Given the description of an element on the screen output the (x, y) to click on. 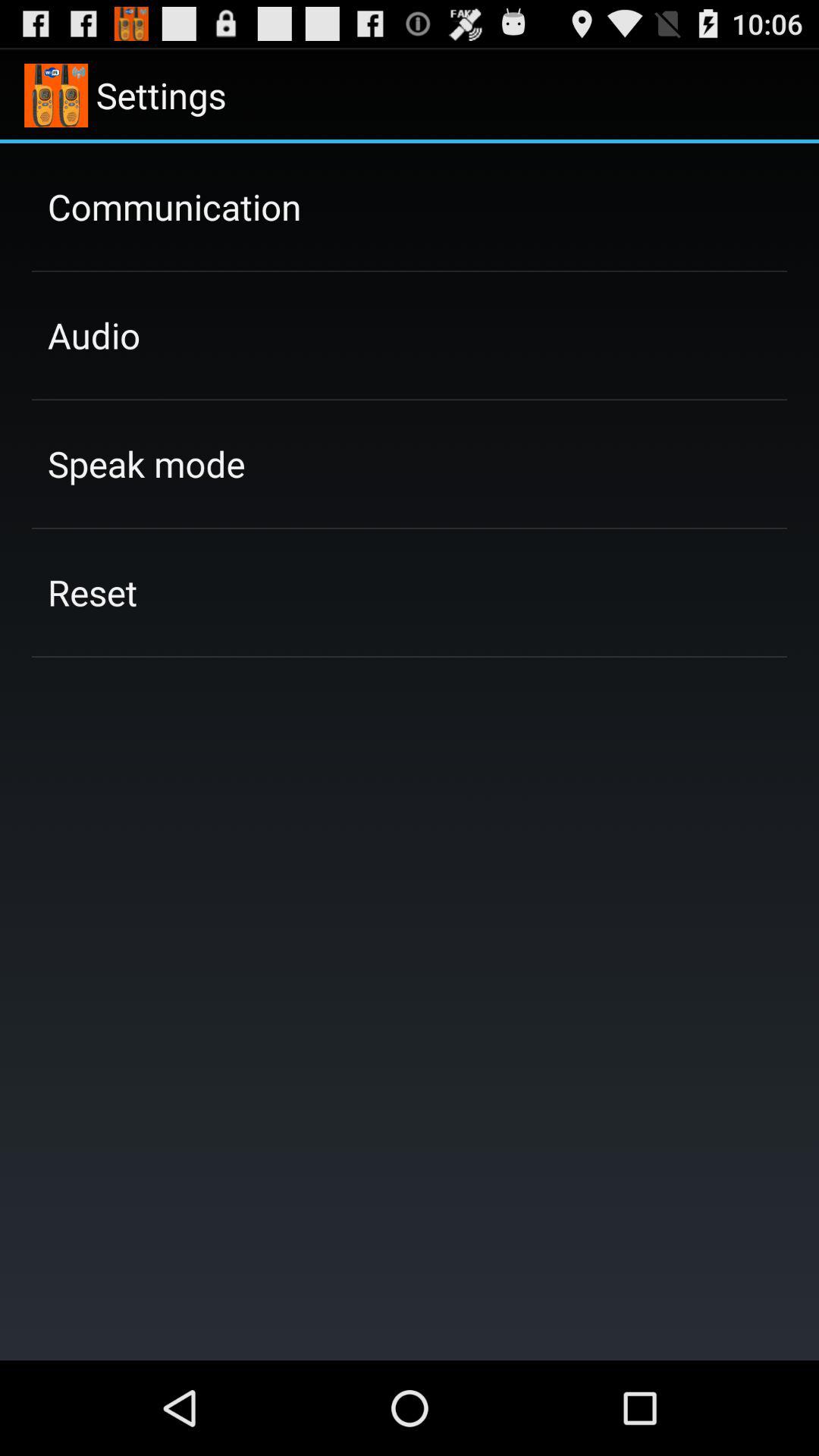
turn off the item below the speak mode (92, 592)
